Given the description of an element on the screen output the (x, y) to click on. 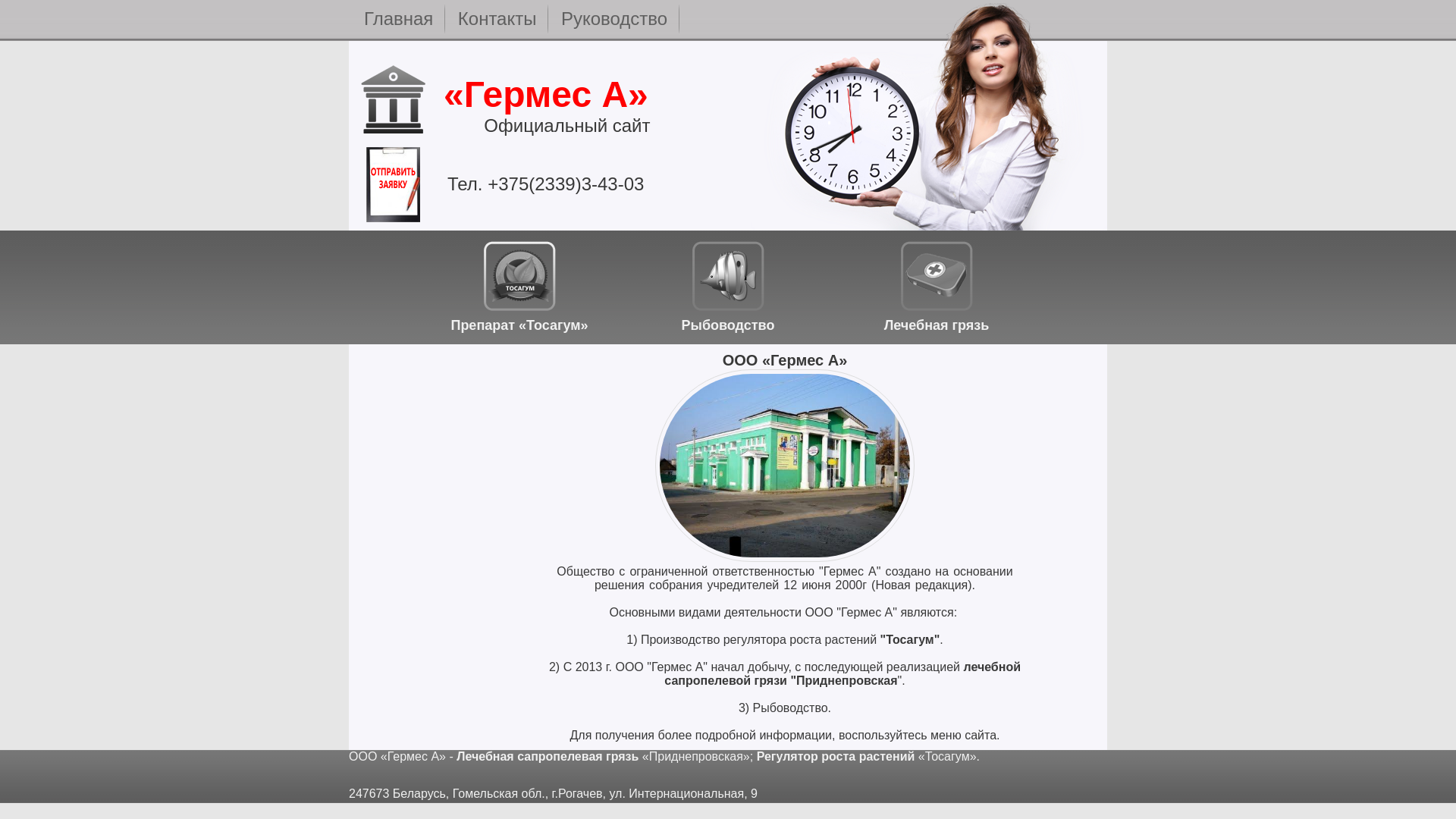
LiveInternet Element type: hover (1095, 775)
